Given the description of an element on the screen output the (x, y) to click on. 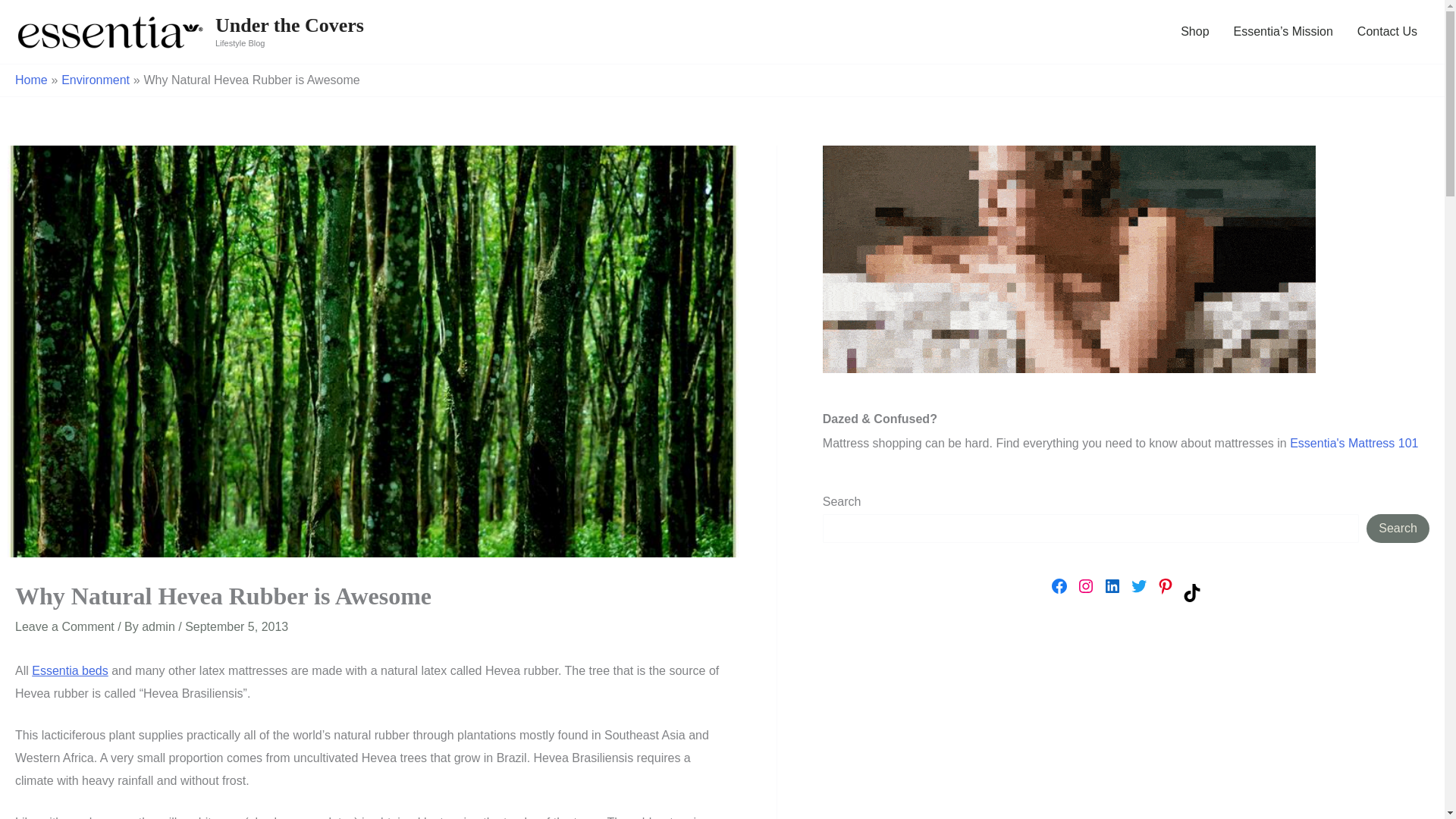
Contact Us (1387, 31)
Instagram (1085, 586)
Home (31, 79)
Essentia's Mattress 101 (1354, 442)
Leave a Comment (64, 626)
Under the Covers (289, 25)
Facebook (1058, 586)
LinkedIn (1112, 586)
Search (1398, 528)
Environment (95, 79)
